Given the description of an element on the screen output the (x, y) to click on. 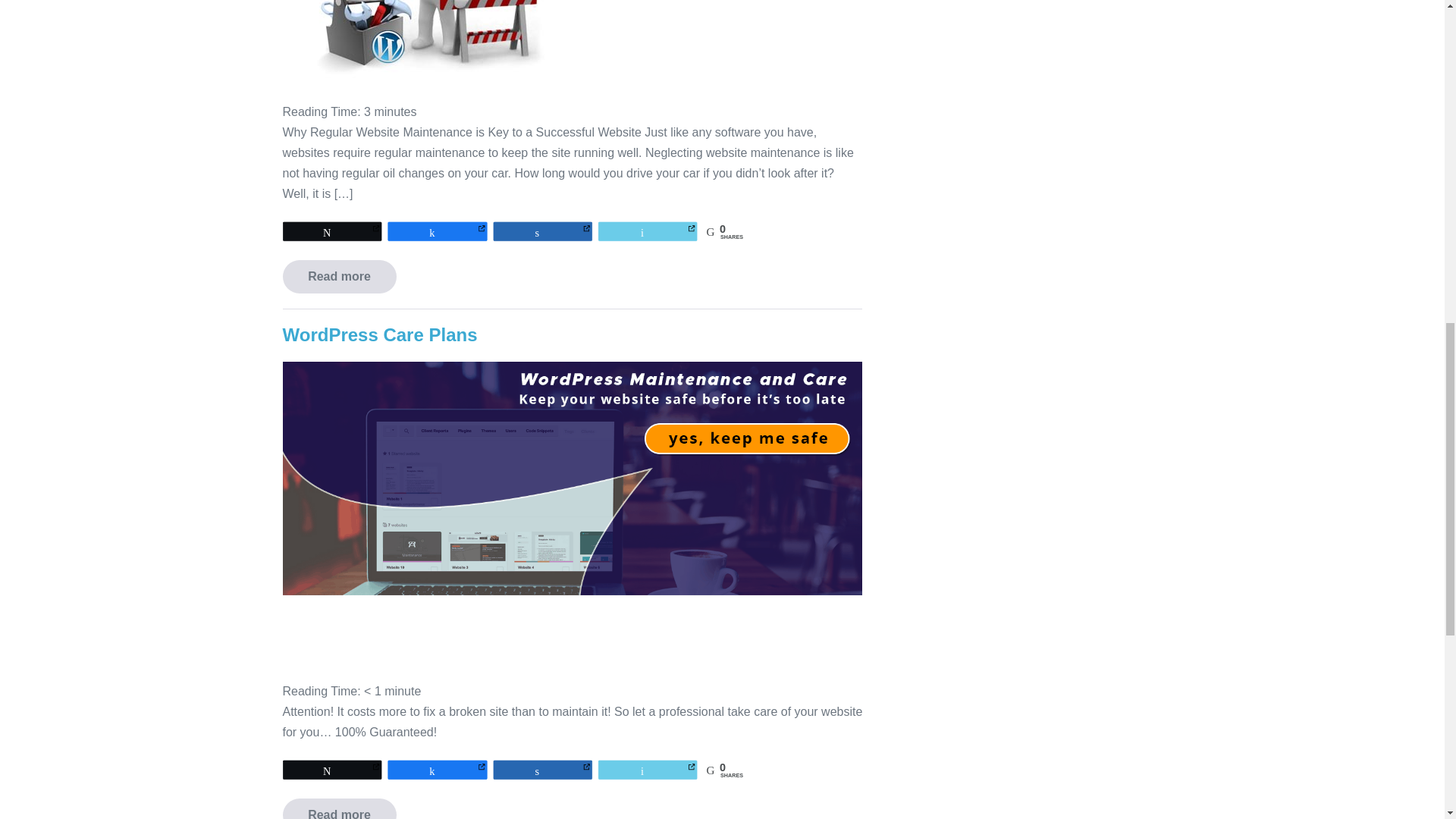
WordPress Care Plans (379, 334)
